Given the description of an element on the screen output the (x, y) to click on. 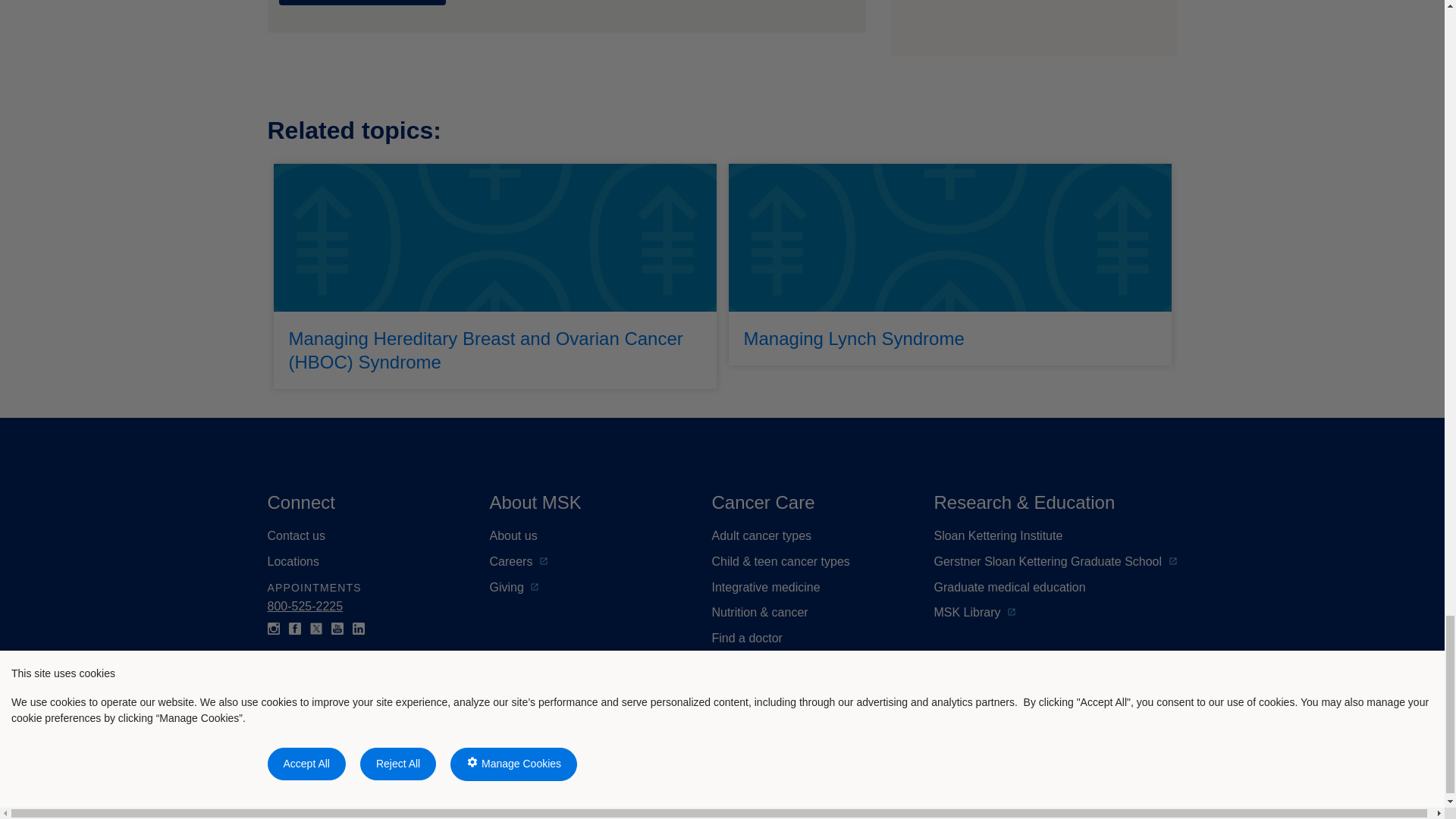
Memorial Sloan Kettering Cancer Center (409, 751)
Submit (362, 2)
